Given the description of an element on the screen output the (x, y) to click on. 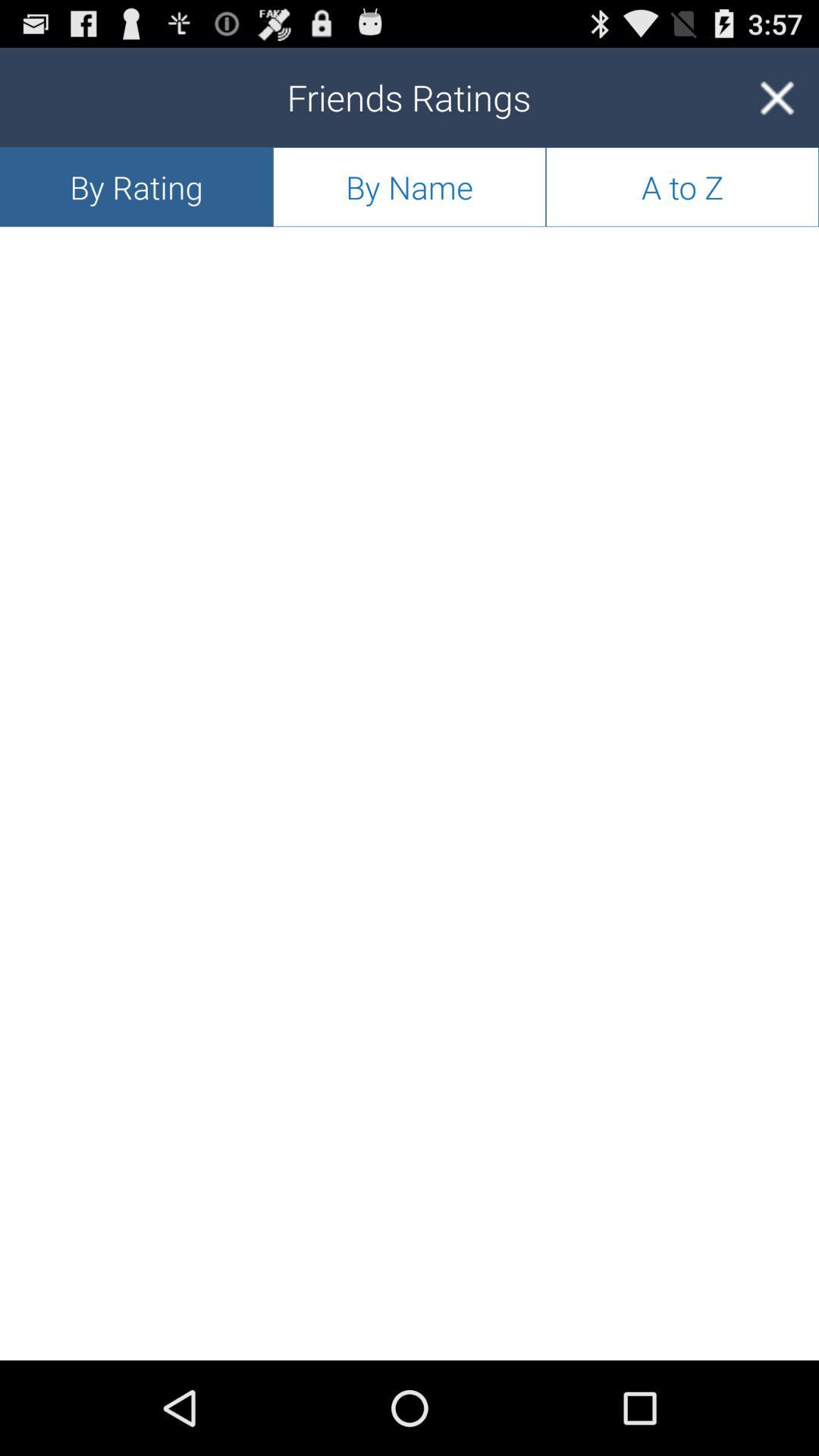
open the item above a to z (776, 97)
